Given the description of an element on the screen output the (x, y) to click on. 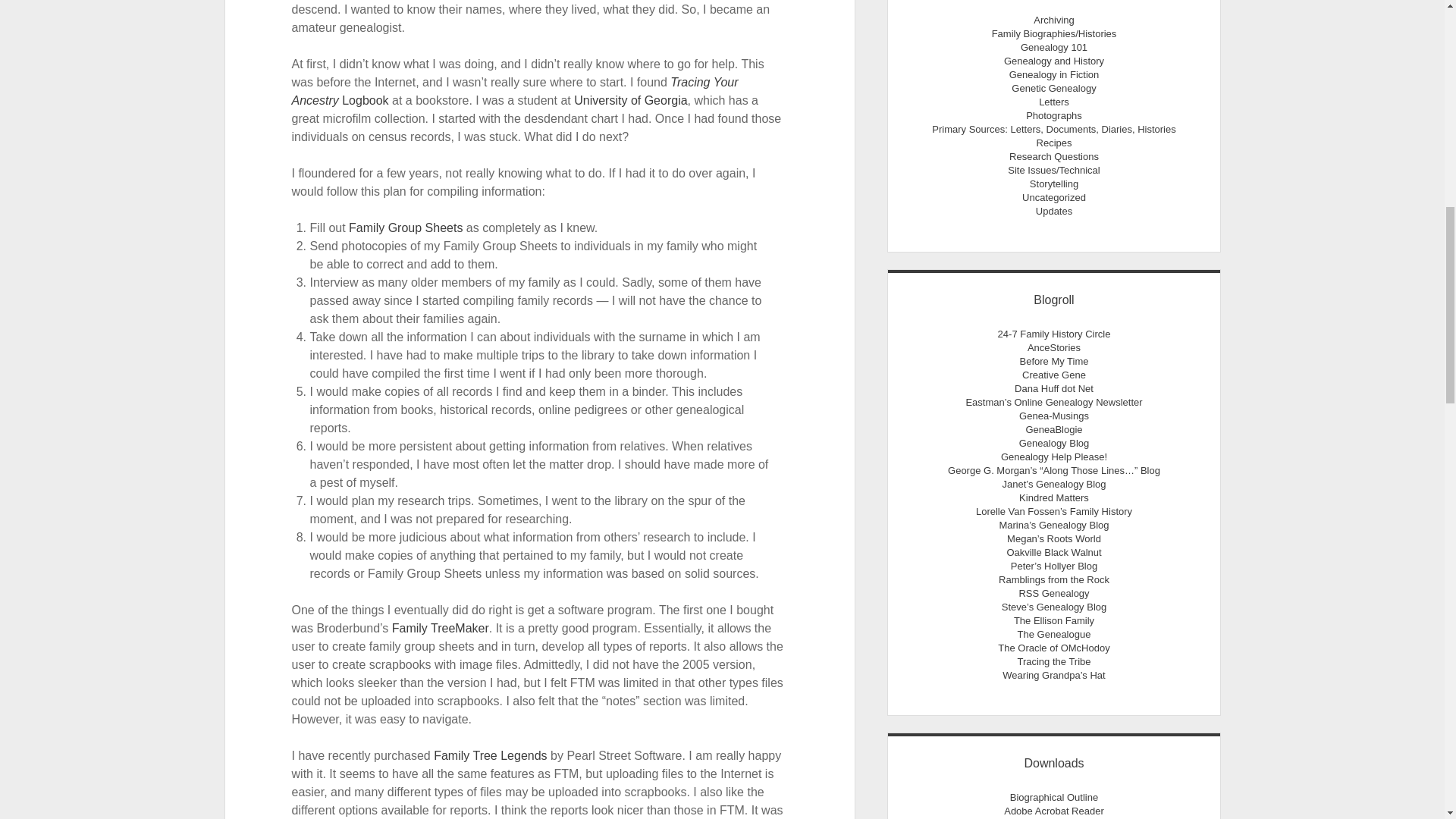
Tracing Your Ancestry Logbook (515, 91)
Family Group Sheets (406, 227)
Family TreeMaker (440, 627)
Family Tree Legends (490, 755)
University of Georgia (630, 100)
